Given the description of an element on the screen output the (x, y) to click on. 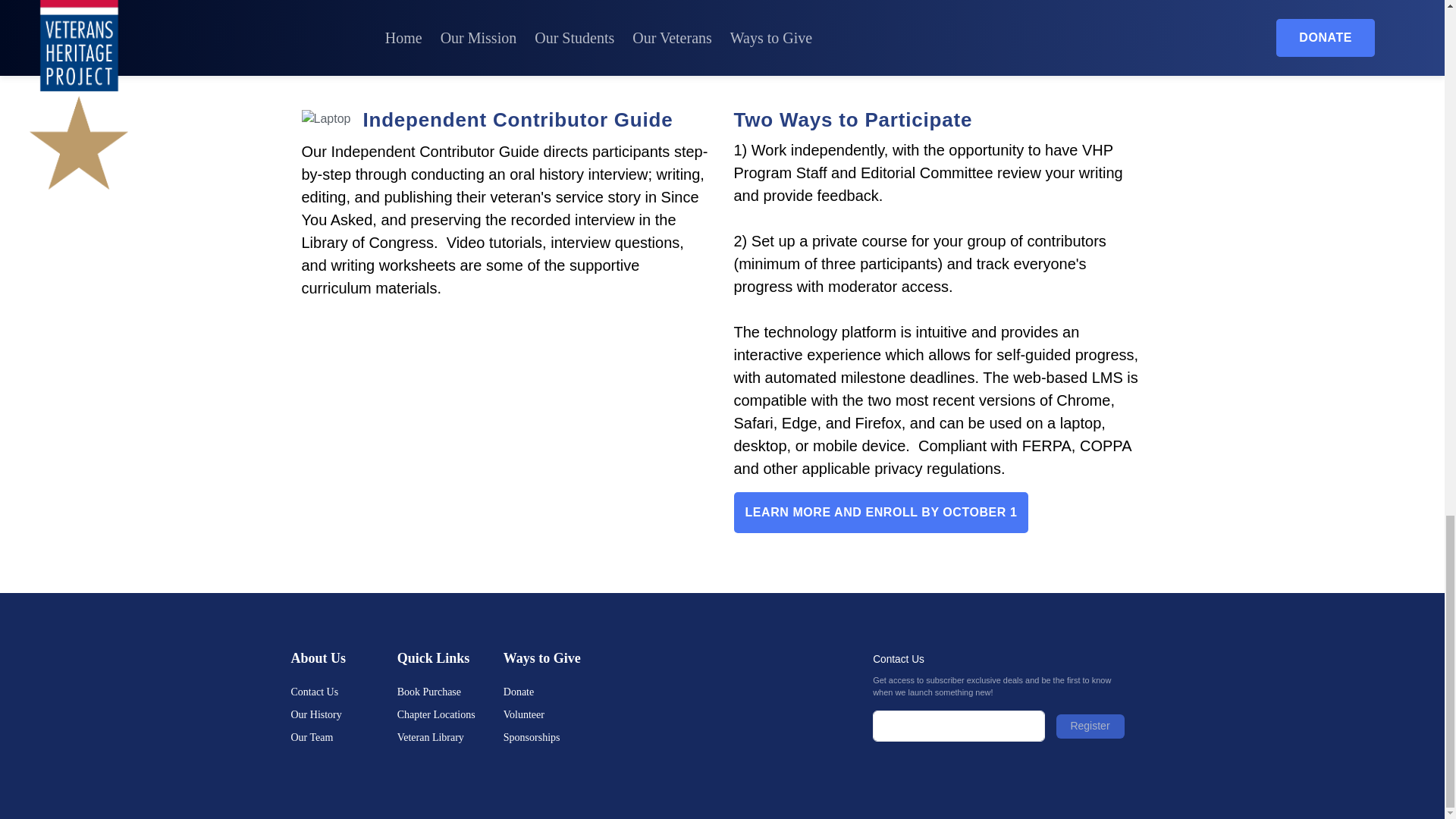
Book Purchase (450, 691)
Sponsorships (556, 737)
Volunteer (556, 714)
Ways to Give (556, 658)
LEARN MORE AND ENROLL BY OCTOBER 1 (881, 512)
Chapter Locations (450, 714)
Contact Us (344, 691)
Quick Links (450, 658)
Donate (556, 691)
Our History (344, 714)
Register (1089, 726)
About Us (344, 658)
Our Team (344, 737)
Veteran Library (450, 737)
